Given the description of an element on the screen output the (x, y) to click on. 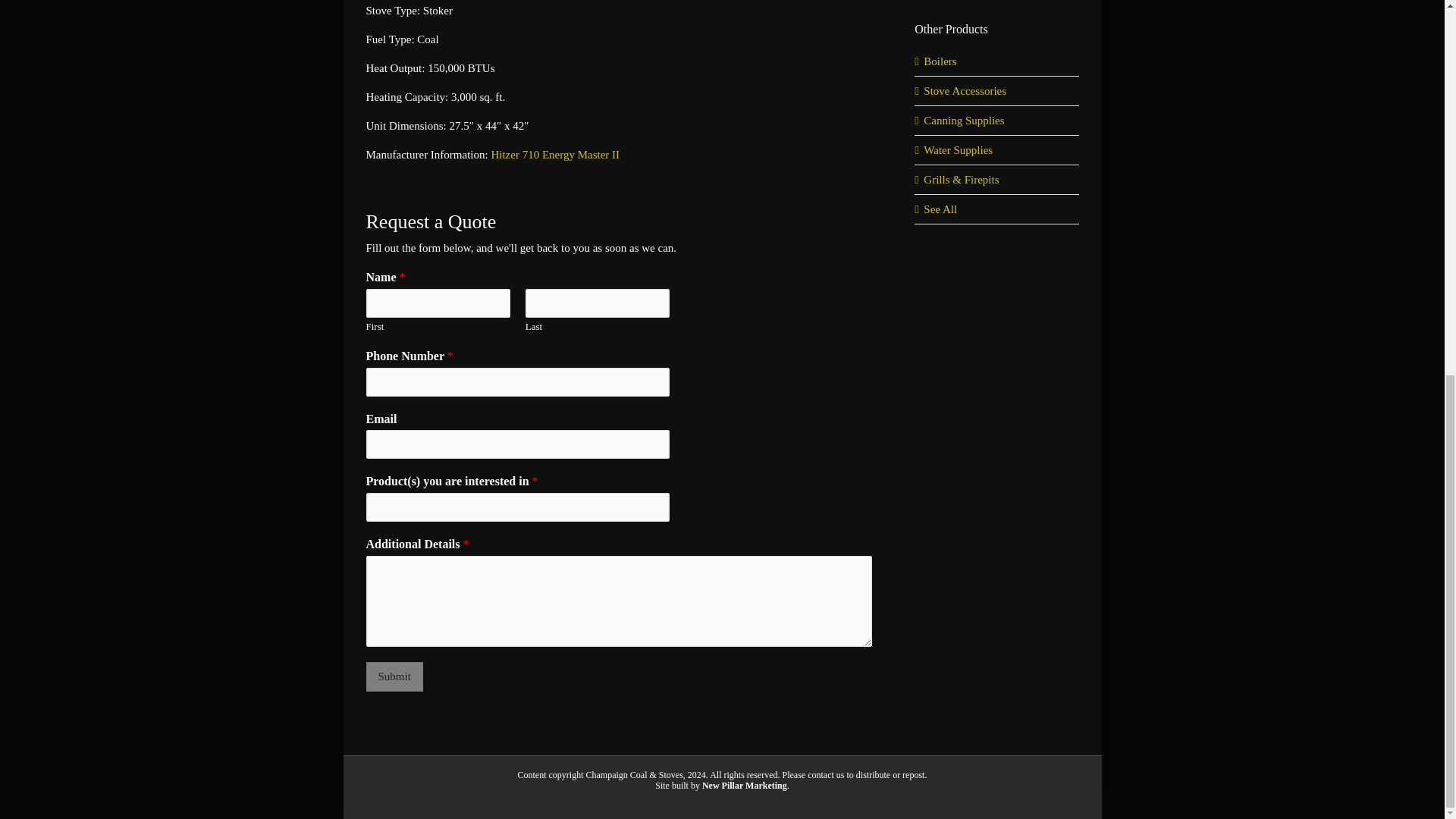
Hitzer 710 Energy Master II (555, 154)
Submit (393, 676)
Hitzer 710 Energy Master II (555, 154)
